Given the description of an element on the screen output the (x, y) to click on. 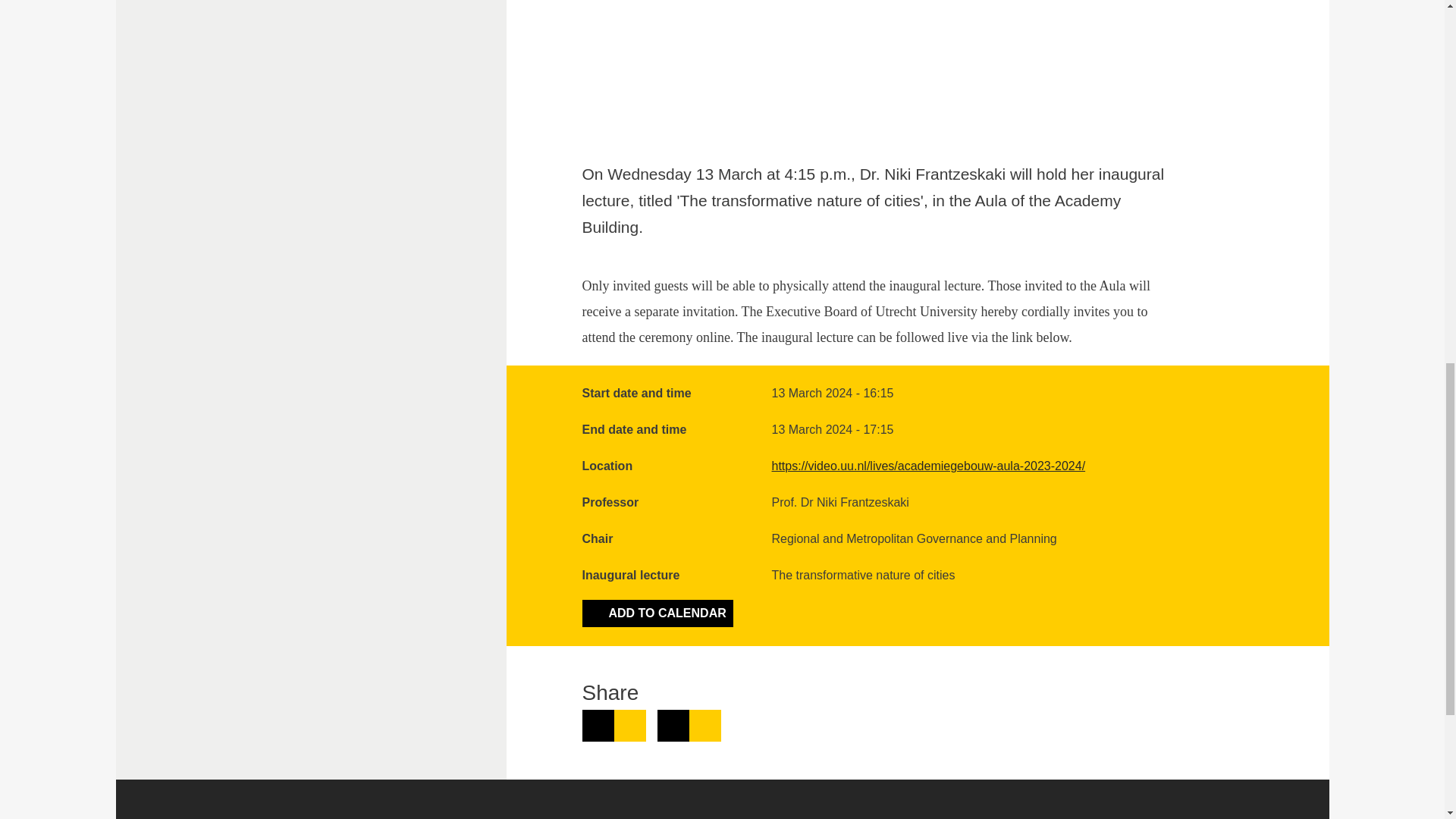
Share on LinkedIn (614, 726)
Share on LinkedIn (614, 726)
Share on Facebook (688, 726)
ADD TO CALENDAR (657, 613)
Share on Facebook (688, 726)
